Given the description of an element on the screen output the (x, y) to click on. 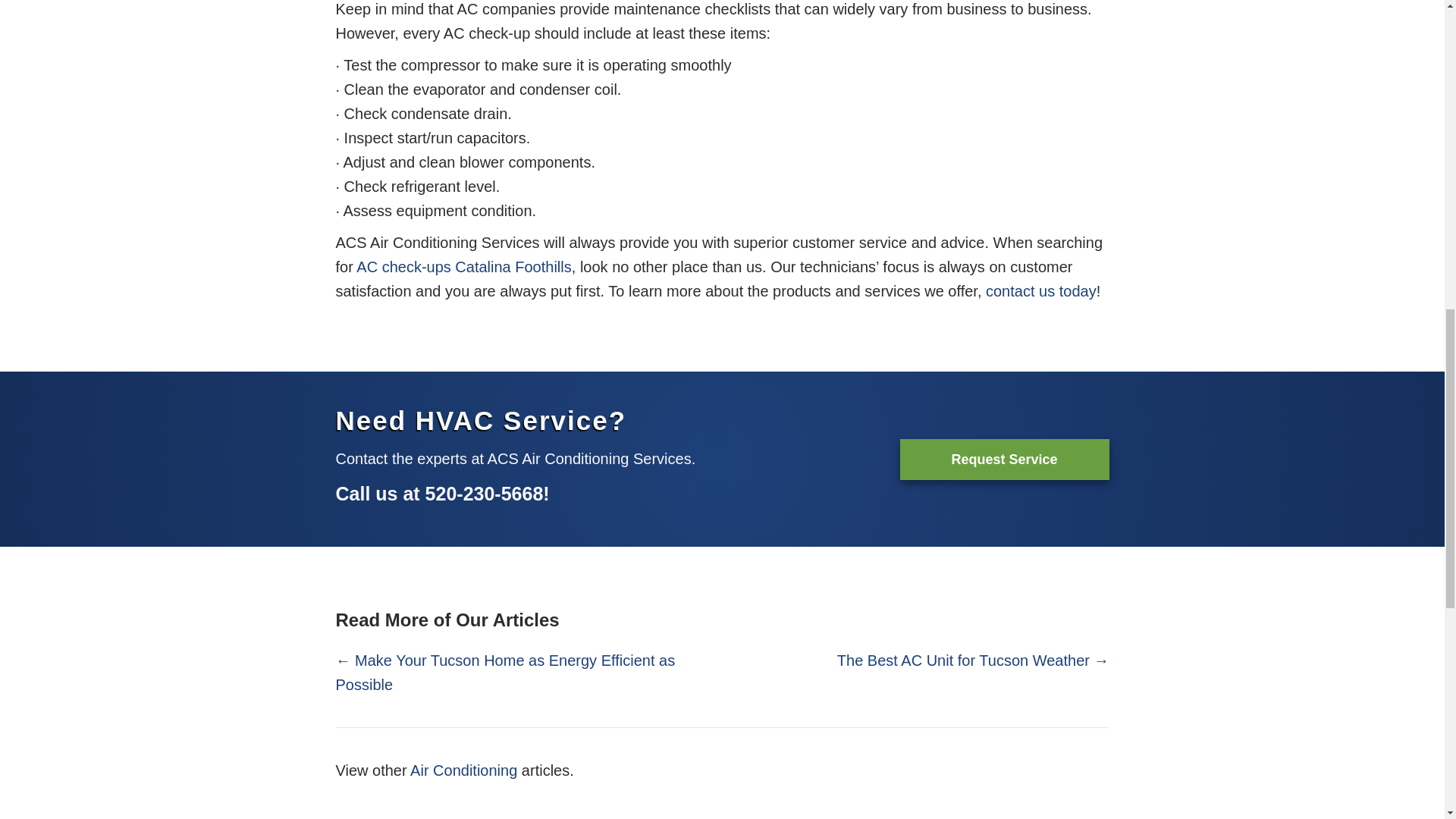
520-230-5668 (484, 493)
AC check-ups Catalina Foothills (463, 266)
Request Service (1003, 458)
Air Conditioning (463, 770)
contact us today (1040, 290)
